Given the description of an element on the screen output the (x, y) to click on. 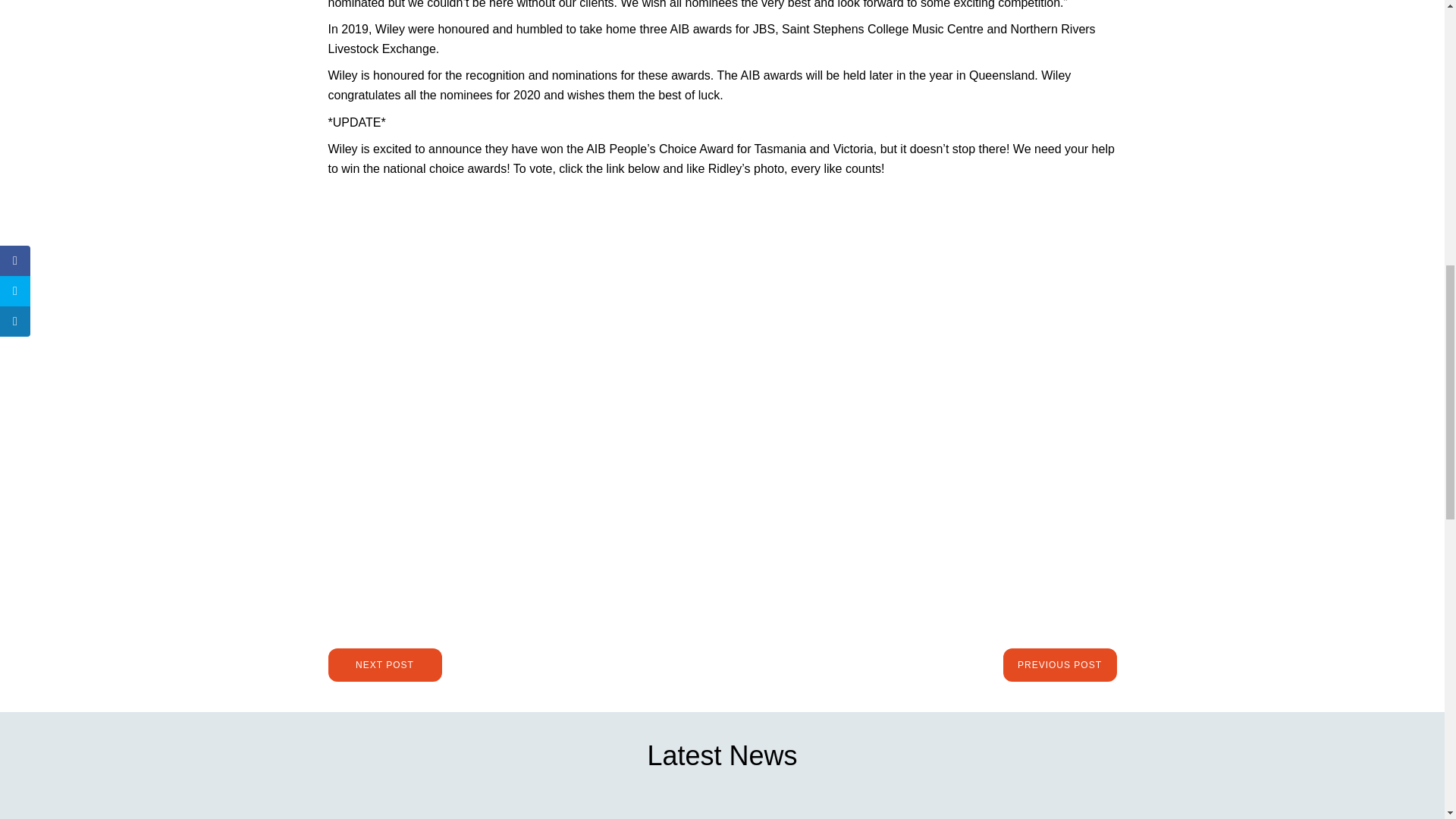
NEXT POST (384, 664)
Keeping the fire burning! (1021, 809)
PREVIOUS POST (1059, 664)
